Given the description of an element on the screen output the (x, y) to click on. 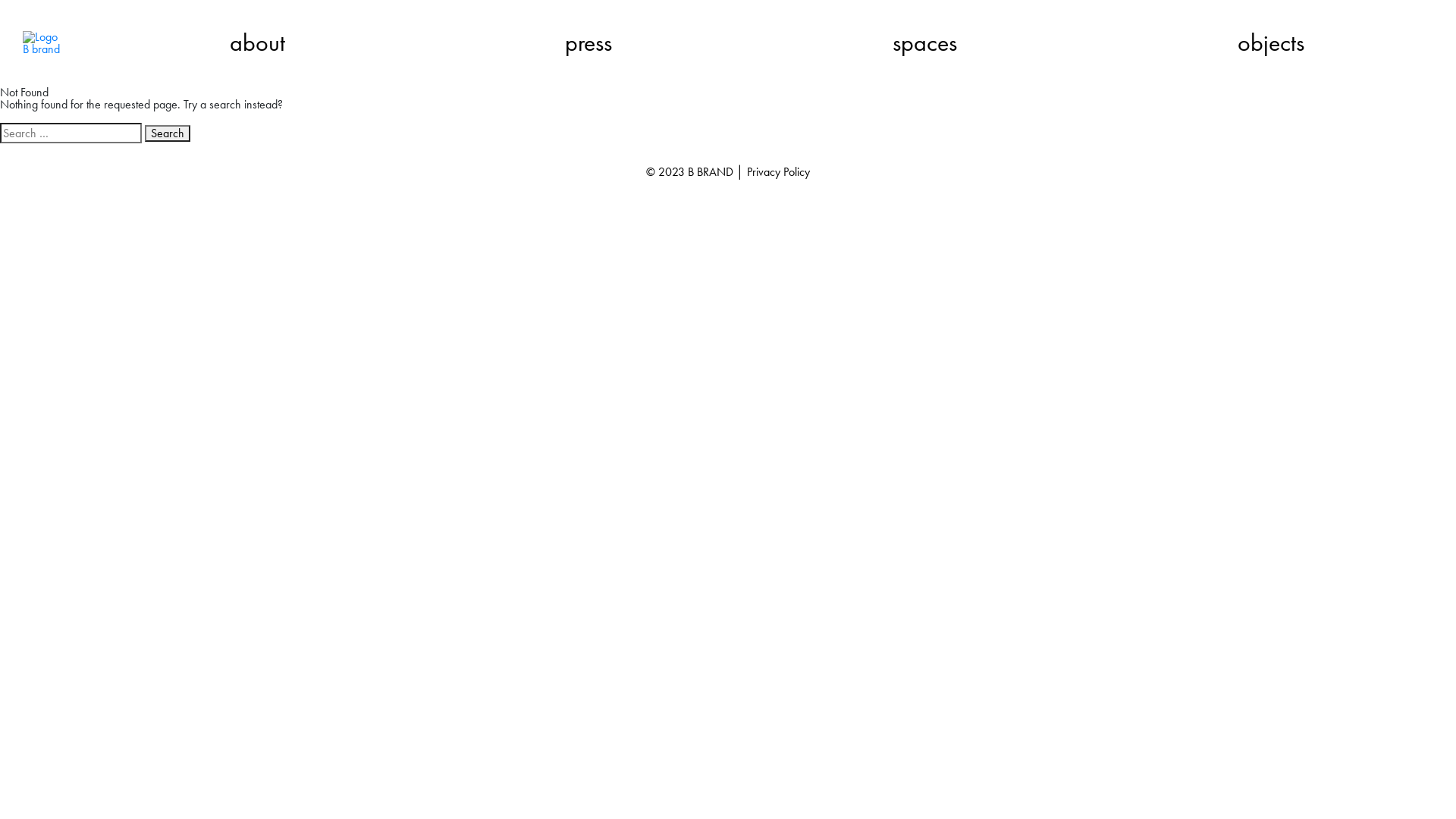
spaces Element type: text (924, 43)
press Element type: text (588, 43)
Privacy Policy Element type: text (777, 171)
about Element type: text (257, 43)
objects Element type: text (1270, 43)
Search Element type: text (167, 133)
